Given the description of an element on the screen output the (x, y) to click on. 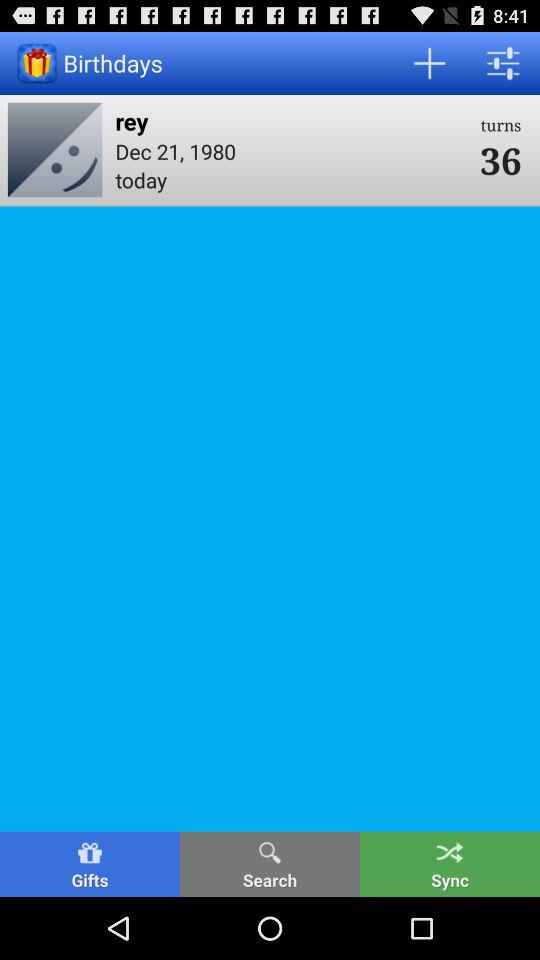
open the 36 item (500, 159)
